Given the description of an element on the screen output the (x, y) to click on. 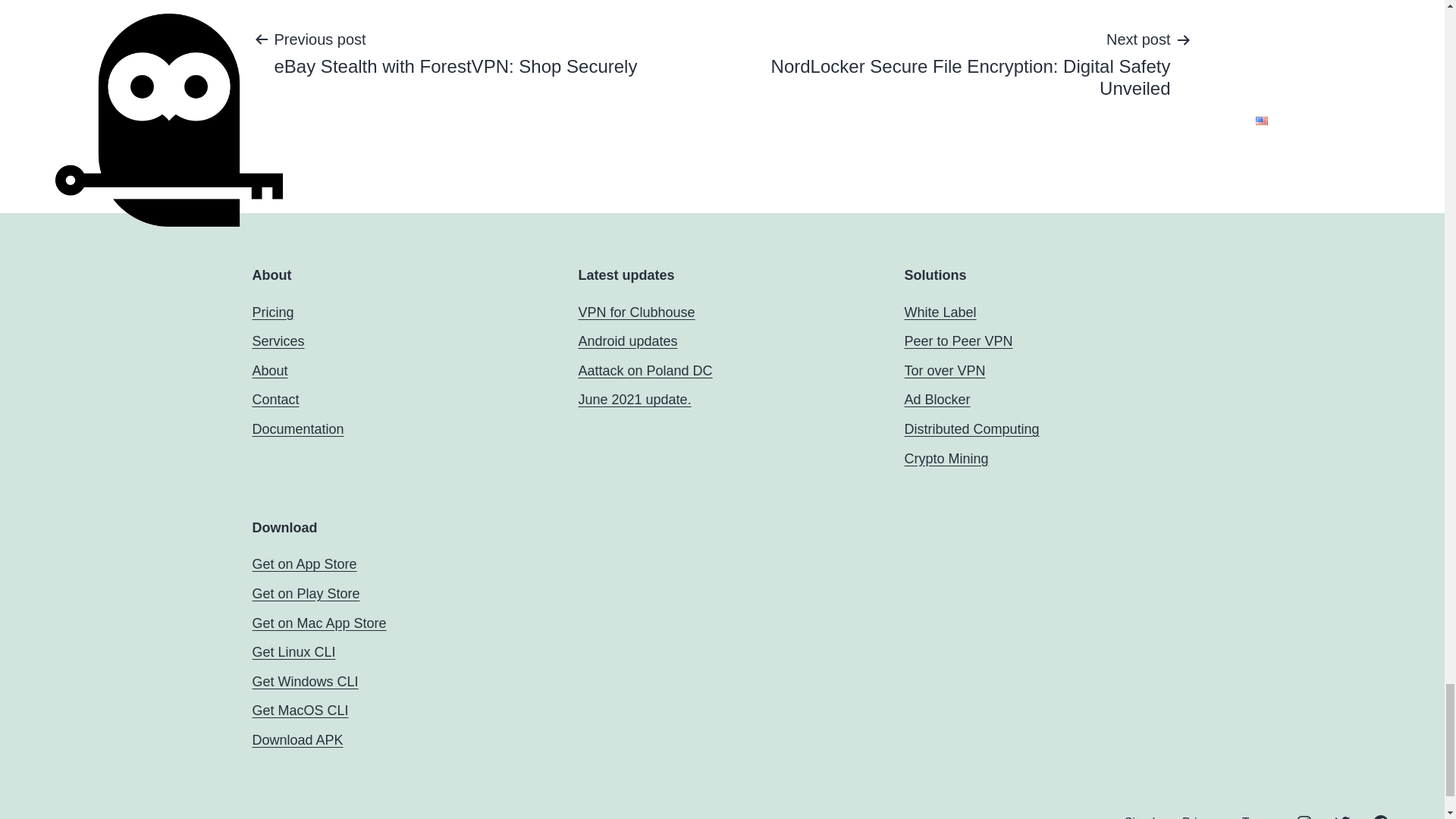
Pricing (272, 312)
Contact (274, 399)
Android updates (627, 340)
June 2021 update. (634, 399)
Peer to Peer VPN (957, 340)
Tor over VPN (944, 370)
Get on Mac App Store (318, 622)
Get on Play Store (305, 593)
VPN for Clubhouse (636, 312)
White Label (939, 312)
Services (277, 340)
About (268, 370)
Distributed Computing (971, 428)
Get Linux CLI (292, 652)
